Given the description of an element on the screen output the (x, y) to click on. 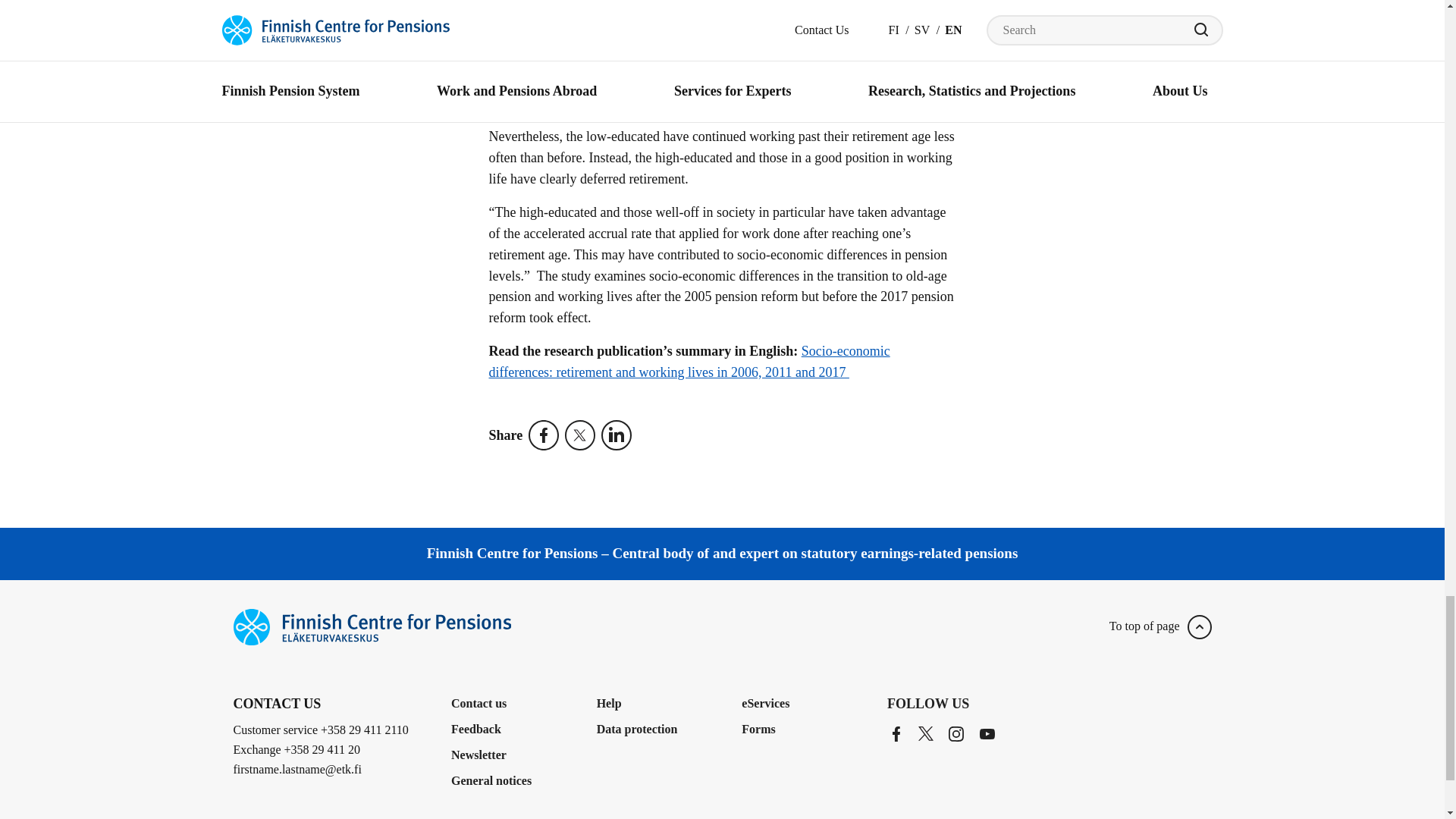
youtube (986, 732)
instagram (956, 732)
Share on LinkedIn (619, 435)
facebook (895, 732)
Share on X (582, 435)
Share on Facebook (546, 435)
